Given the description of an element on the screen output the (x, y) to click on. 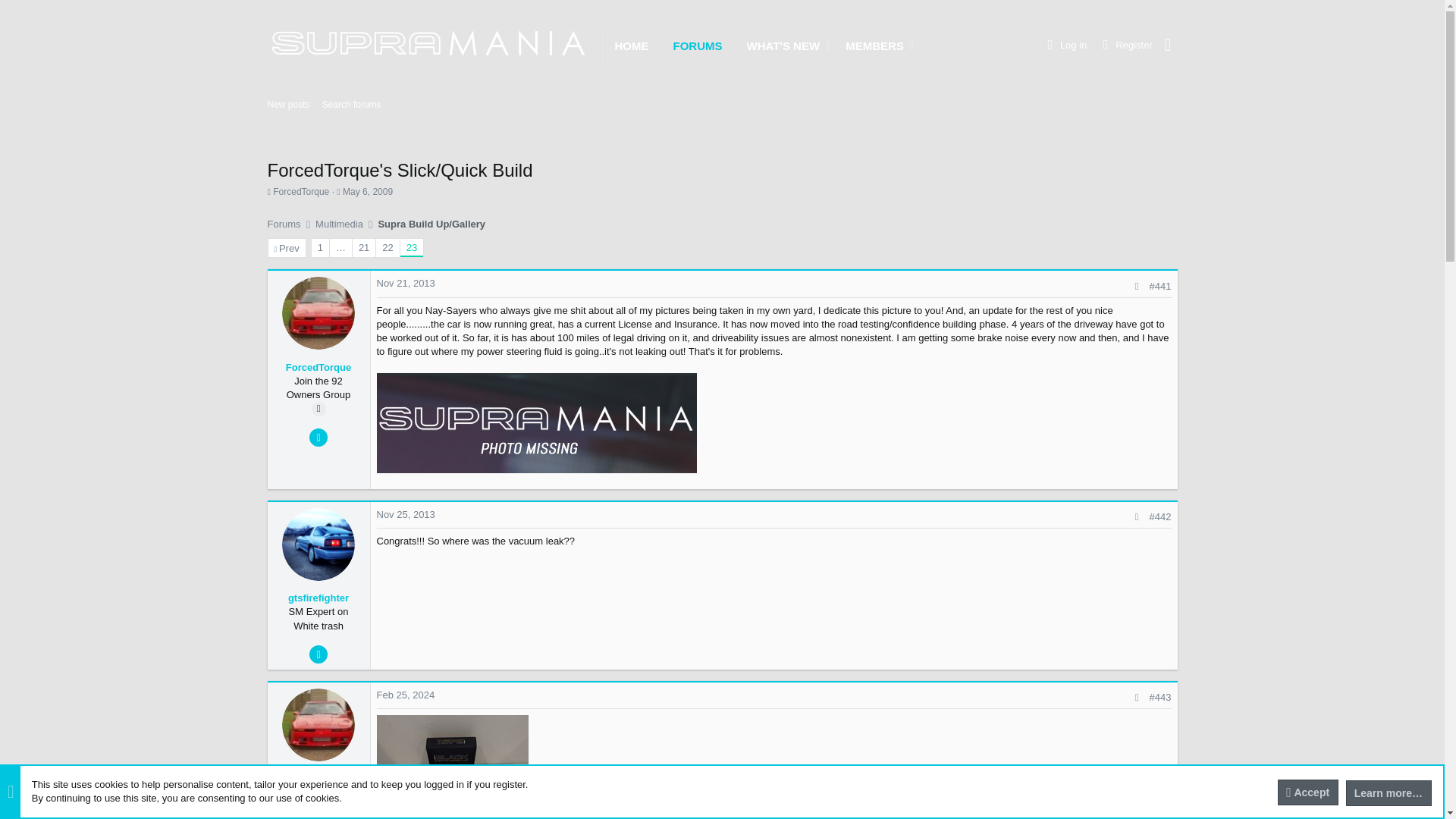
New posts (287, 105)
WHAT'S NEW (777, 45)
Search forums (351, 105)
ForcedTorque (301, 191)
FORUMS (698, 45)
Forums (282, 223)
MEMBERS (868, 45)
May 6, 2009 (367, 191)
Nov 21, 2013 at 9:04 PM (404, 283)
